Given the description of an element on the screen output the (x, y) to click on. 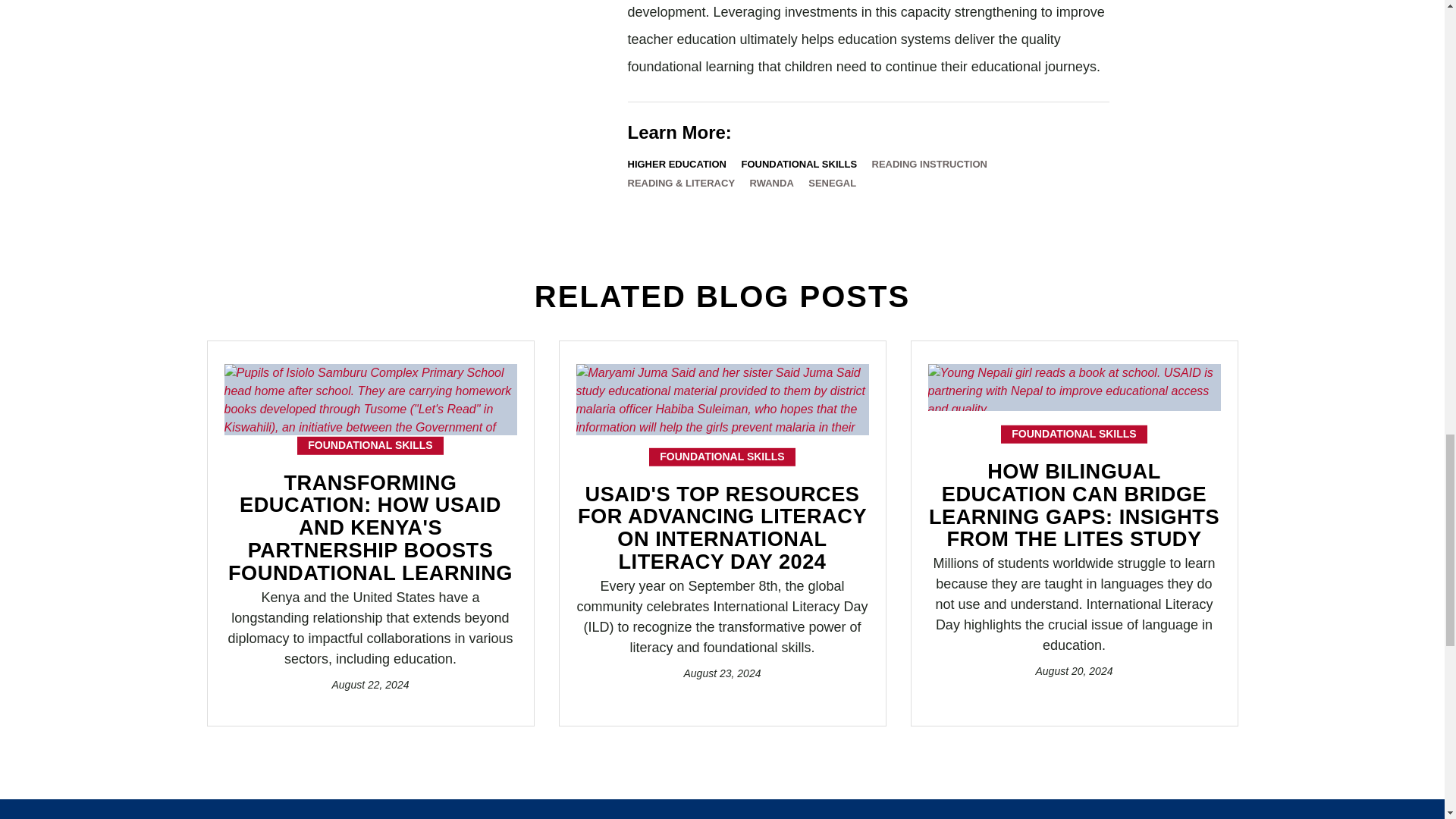
RWANDA (771, 184)
HIGHER EDUCATION (676, 165)
Rwanda (771, 184)
SENEGAL (832, 184)
Reading Instruction (929, 165)
FOUNDATIONAL SKILLS (799, 165)
READING INSTRUCTION (929, 165)
Higher Education (676, 165)
Senegal (832, 184)
Foundational Skills (799, 165)
